Given the description of an element on the screen output the (x, y) to click on. 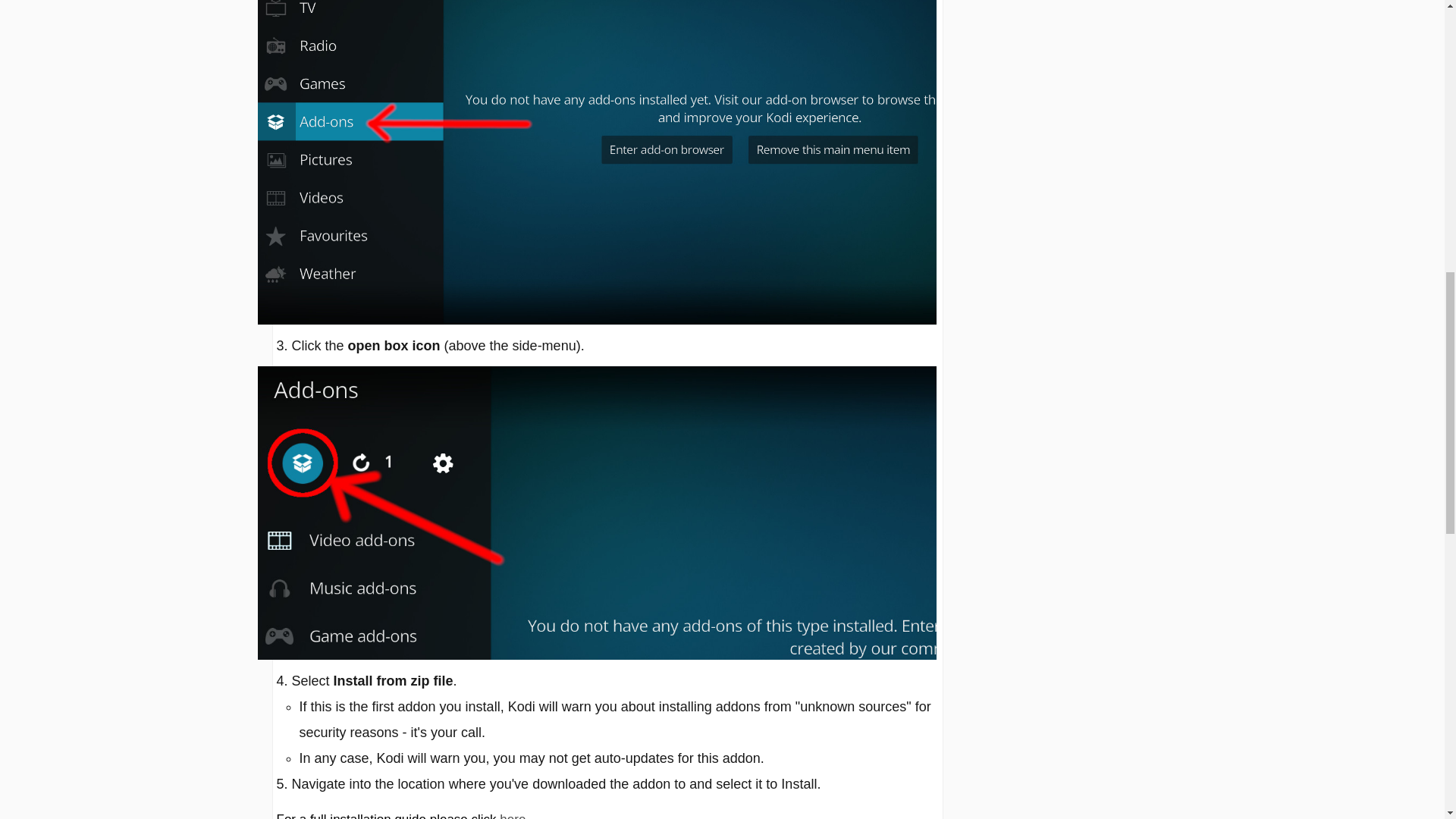
here (512, 815)
